Given the description of an element on the screen output the (x, y) to click on. 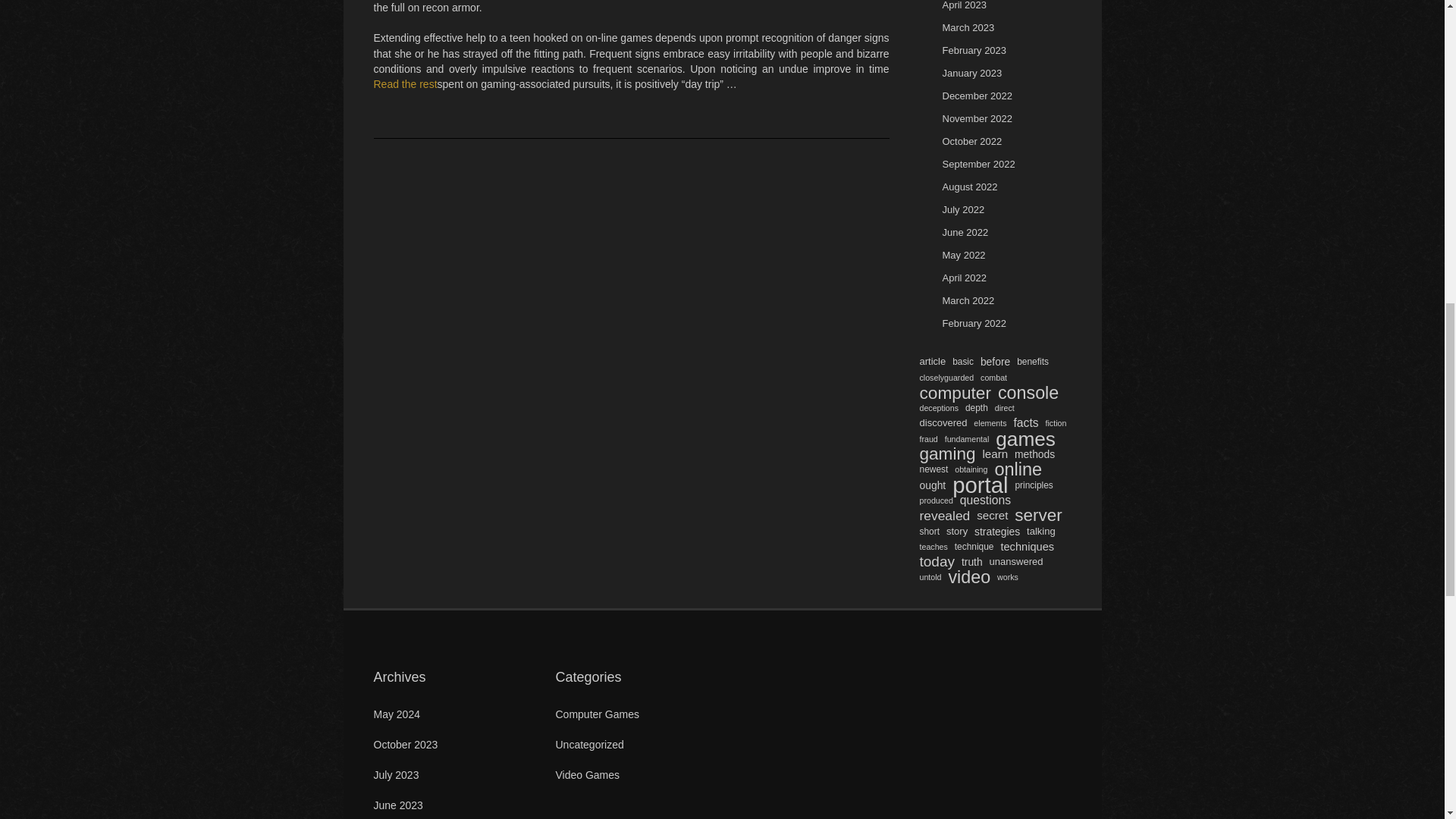
December 2022 (976, 95)
February 2023 (974, 50)
April 2023 (964, 5)
November 2022 (976, 118)
October 2022 (971, 141)
Read the rest (404, 83)
August 2022 (969, 186)
January 2023 (971, 72)
March 2023 (968, 27)
September 2022 (978, 163)
